Given the description of an element on the screen output the (x, y) to click on. 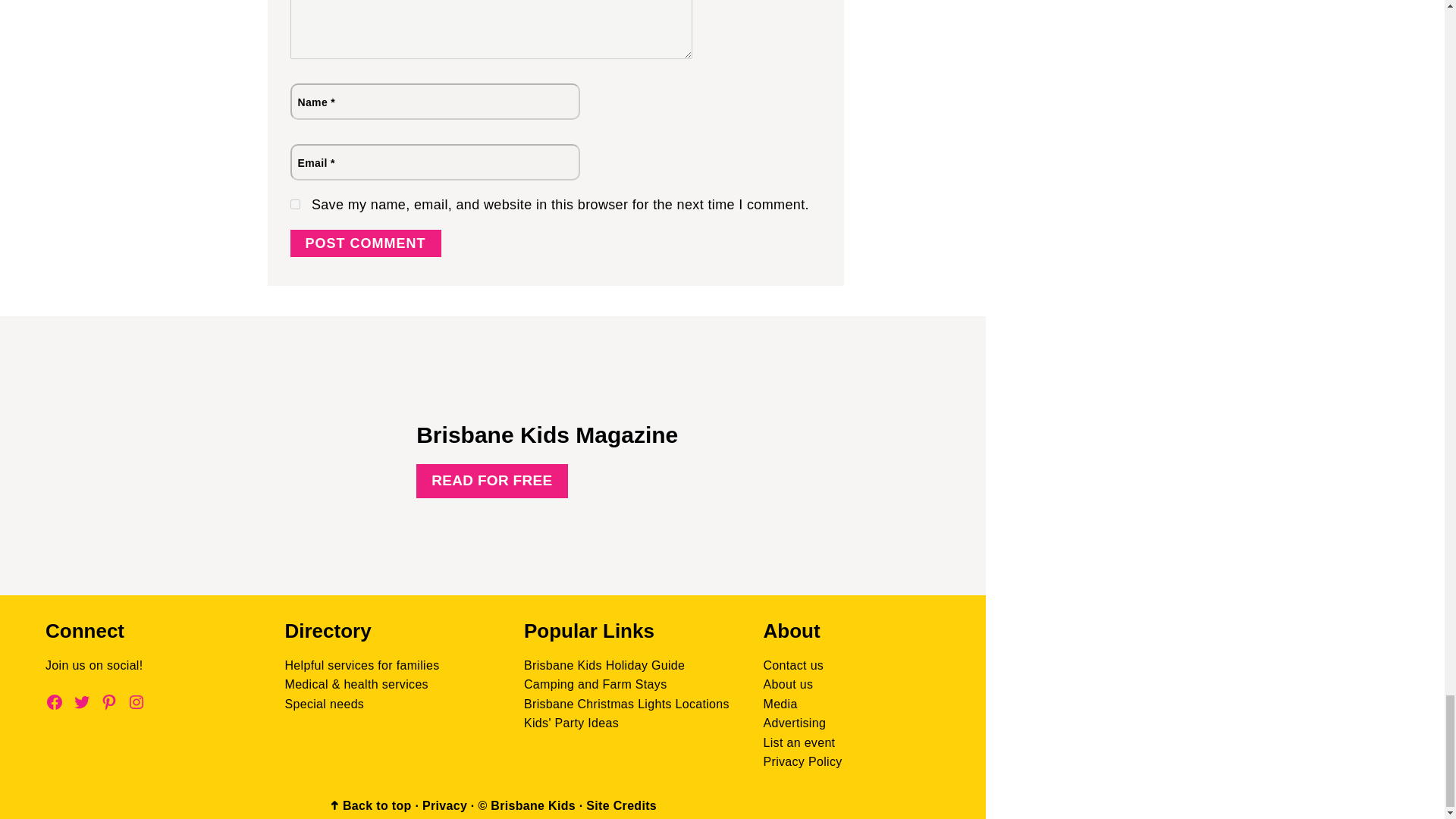
Post Comment (365, 243)
yes (294, 204)
